Given the description of an element on the screen output the (x, y) to click on. 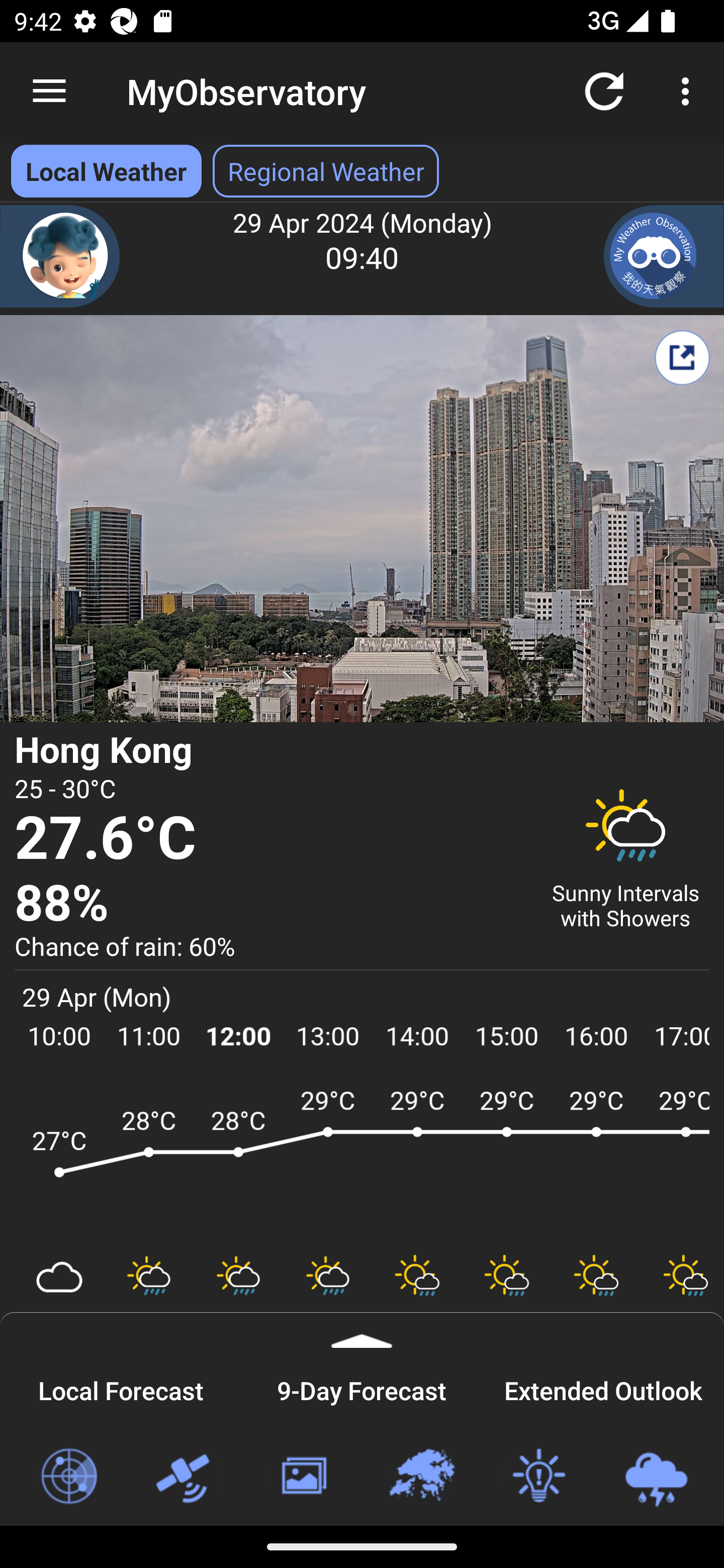
Navigate up (49, 91)
Refresh (604, 90)
More options (688, 90)
Local Weather Local Weather selected (105, 170)
Regional Weather Select Regional Weather (325, 170)
Chatbot (60, 256)
My Weather Observation (663, 256)
Share My Weather Report (681, 357)
27.6°C Temperature
27.6 degree Celsius (270, 839)
88% Relative Humidity
88 percent (270, 903)
ARWF (361, 1160)
Expand (362, 1330)
Local Forecast (120, 1387)
Extended Outlook (603, 1387)
Radar Images (68, 1476)
Satellite Images (185, 1476)
Weather Photos (302, 1476)
Regional Weather (420, 1476)
Weather Tips (537, 1476)
Loc-based Rain & Lightning Forecast (655, 1476)
